Given the description of an element on the screen output the (x, y) to click on. 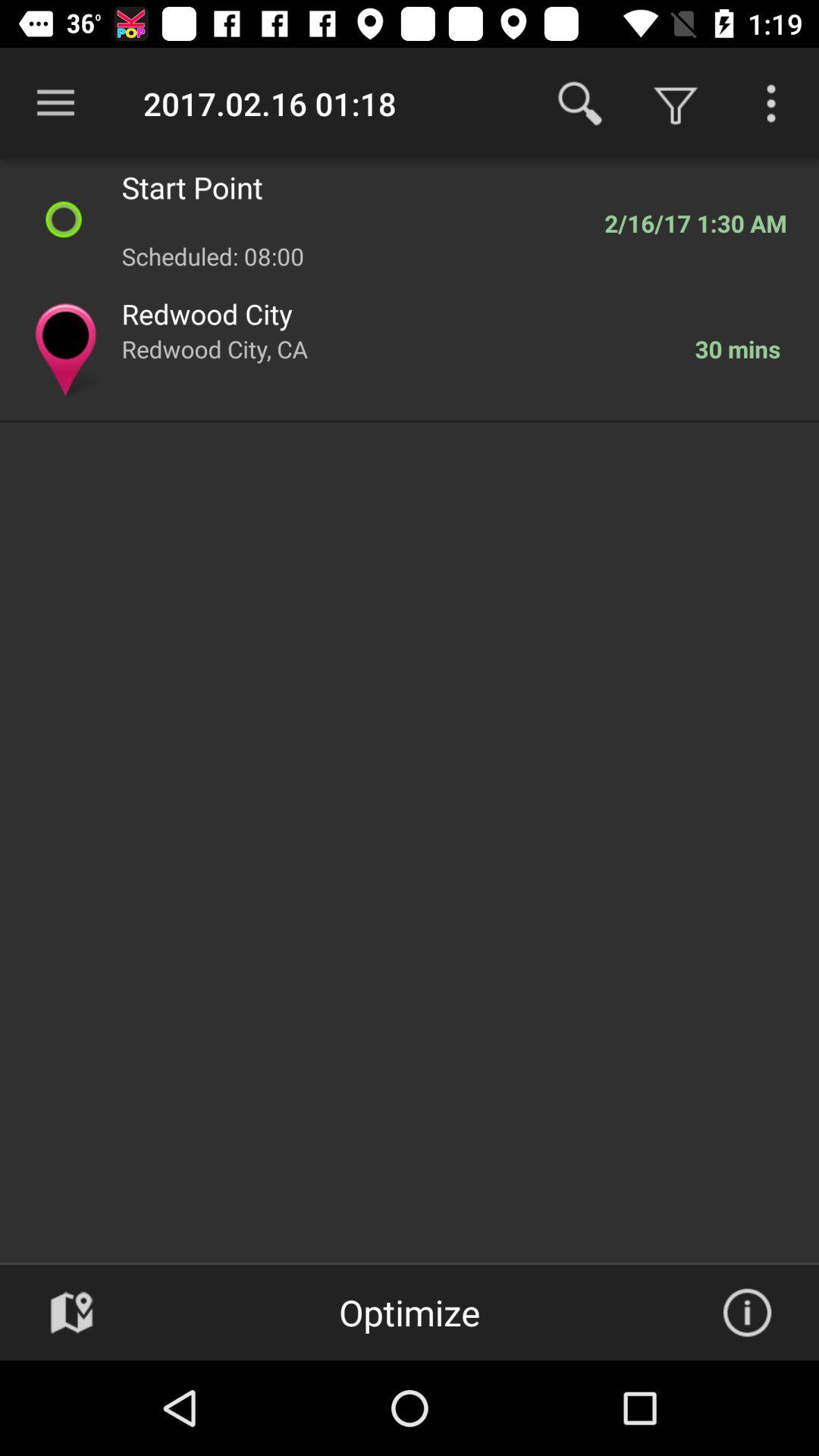
other options (771, 103)
